Given the description of an element on the screen output the (x, y) to click on. 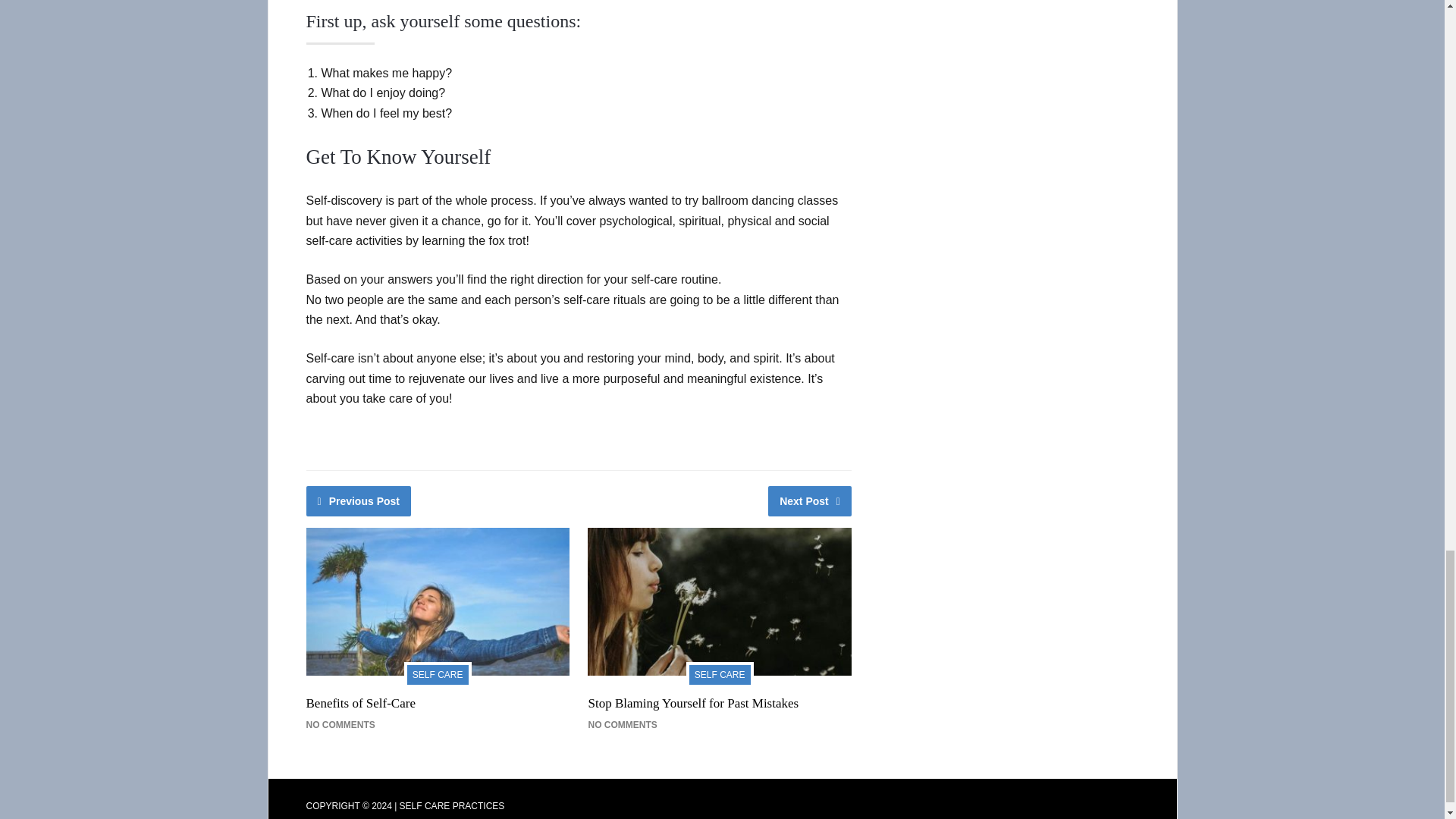
NO COMMENTS (622, 724)
NO COMMENTS (340, 724)
Stop Blaming Yourself for Past Mistakes (692, 703)
SELF CARE (719, 672)
Next Post (809, 501)
Previous Post (358, 501)
Benefits of Self-Care (359, 703)
SELF CARE (437, 672)
